Given the description of an element on the screen output the (x, y) to click on. 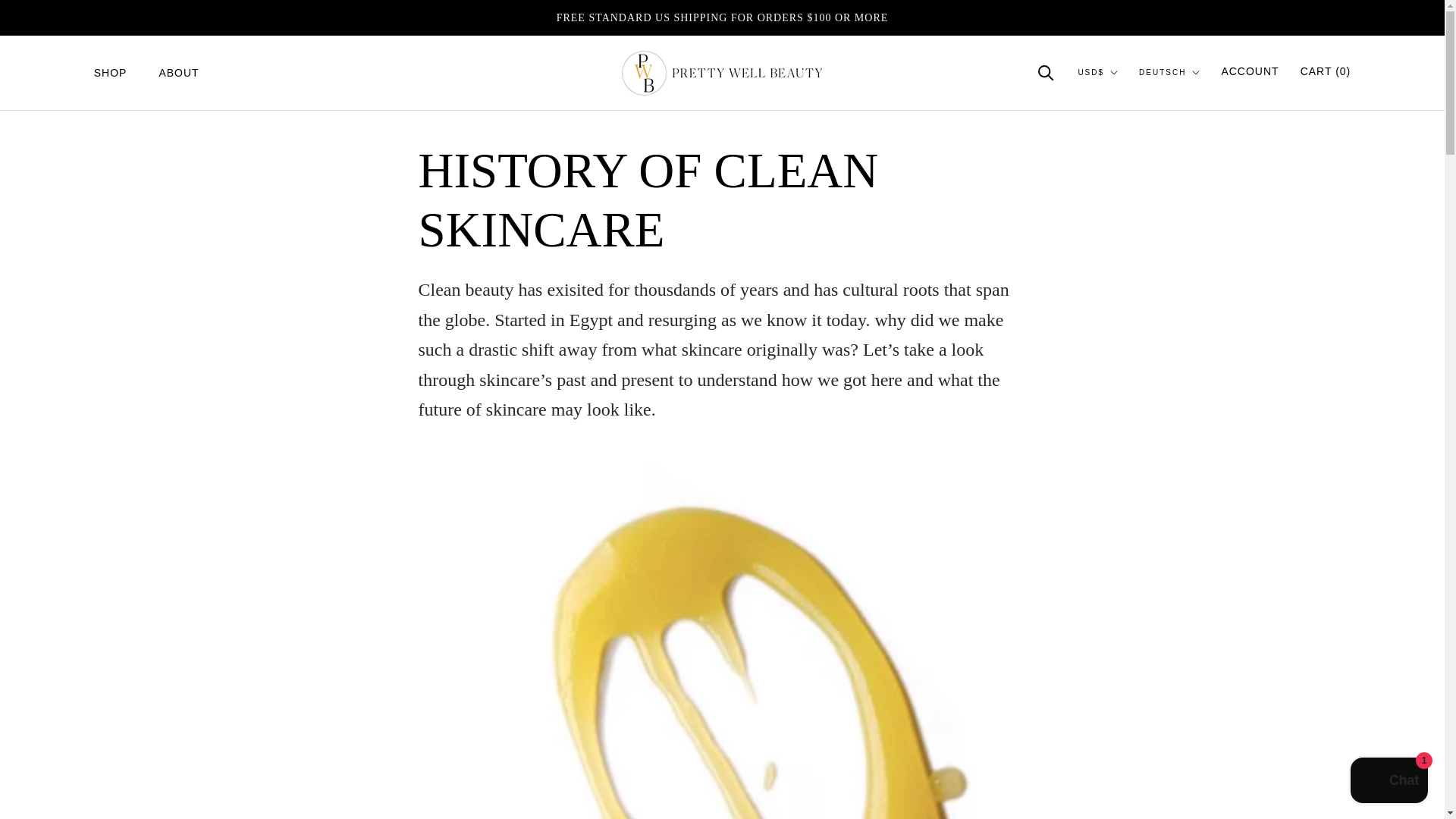
Onlineshop-Chat von Shopify (1388, 781)
